Given the description of an element on the screen output the (x, y) to click on. 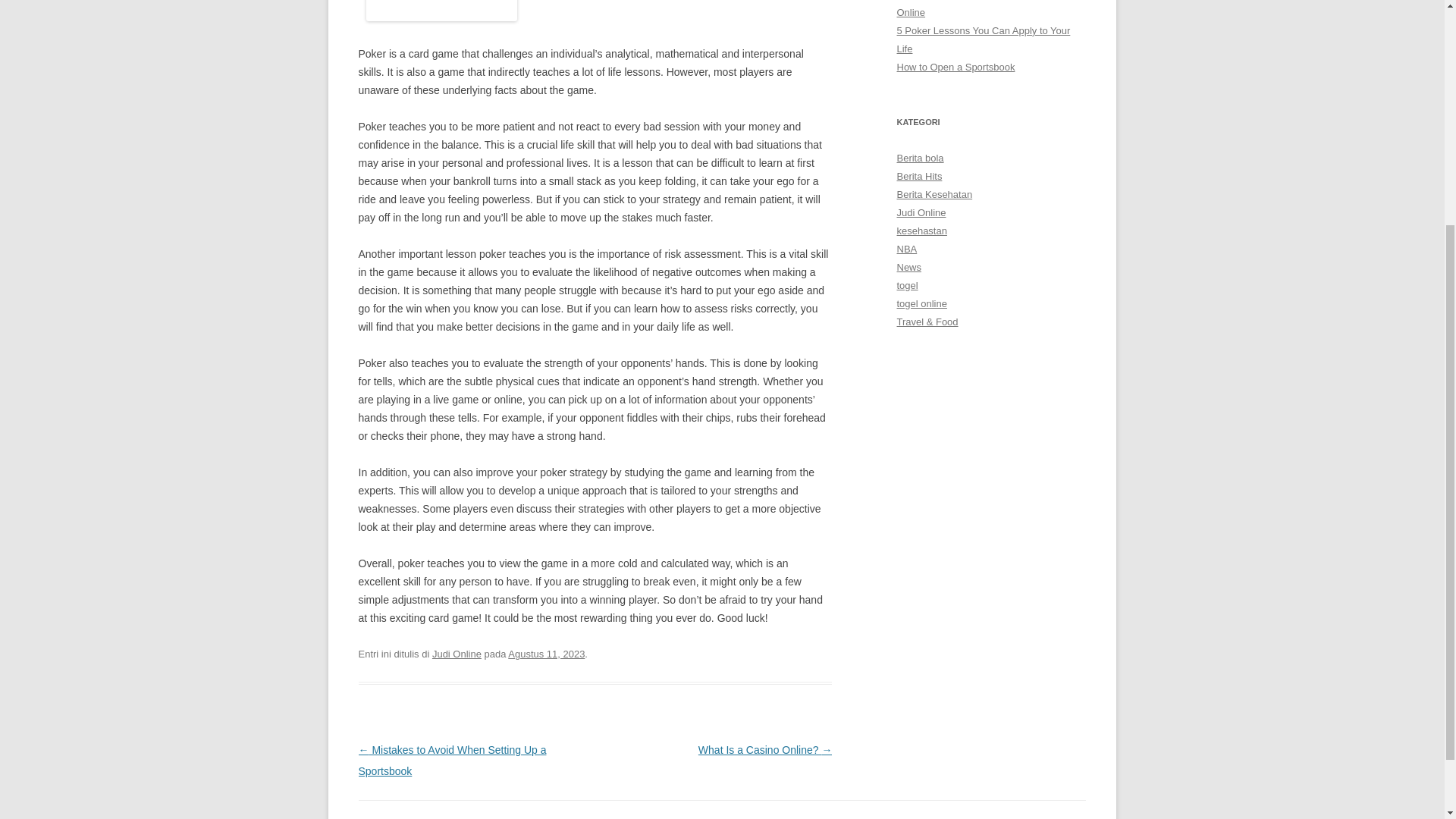
togel online (921, 303)
Judi Online (456, 654)
Berita Hits (919, 175)
5 Poker Lessons You Can Apply to Your Life (983, 39)
News (908, 266)
kesehastan (921, 230)
Berita bola (919, 157)
What You Should Know About Casino Online (978, 9)
NBA (906, 248)
How to Open a Sportsbook (955, 66)
Berita Kesehatan (934, 194)
9:45 pm (546, 654)
Agustus 11, 2023 (546, 654)
Judi Online (920, 212)
togel (906, 285)
